Given the description of an element on the screen output the (x, y) to click on. 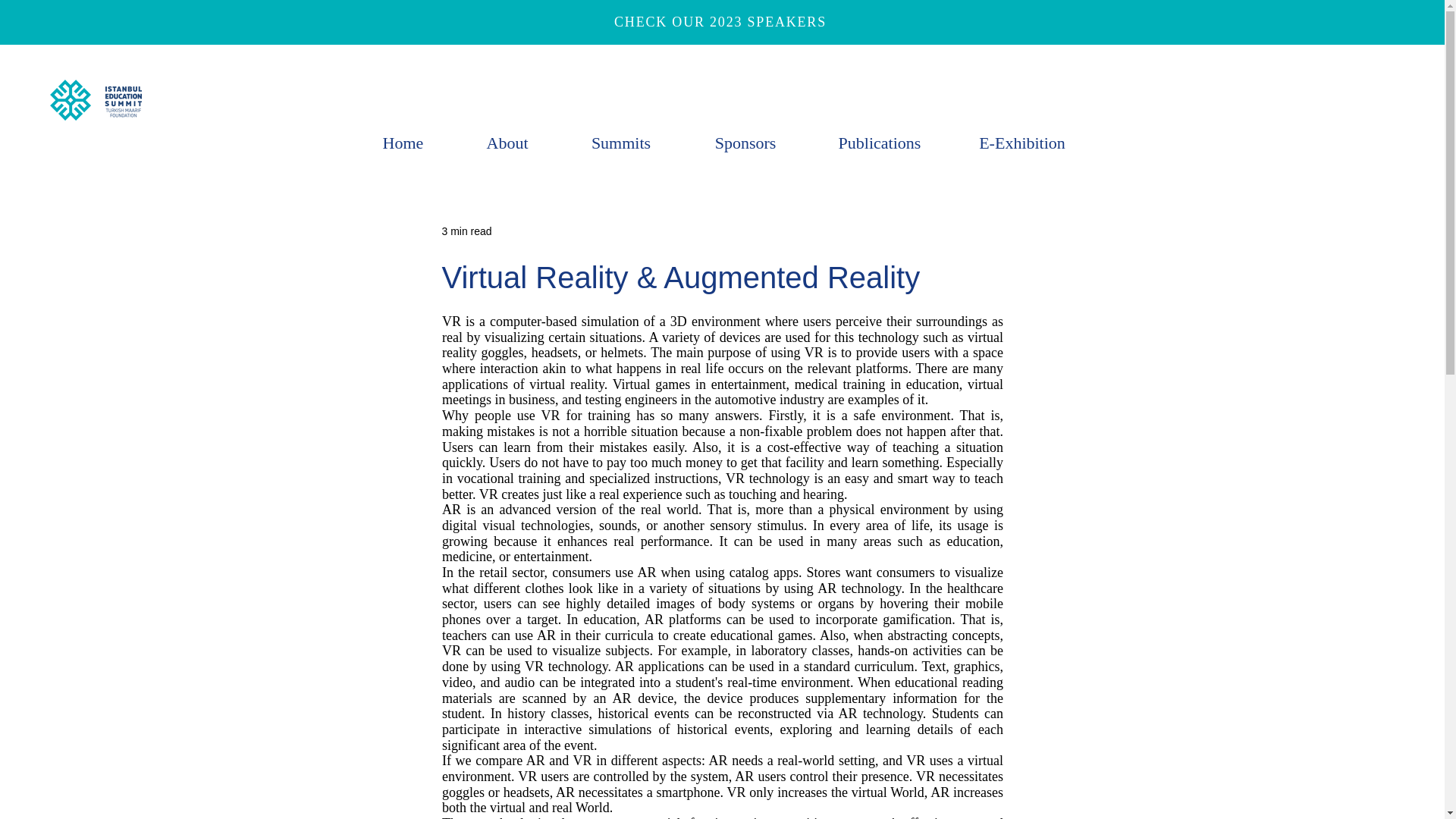
About (506, 142)
E-Exhibition (1021, 142)
CHECK OUR 2023 SPEAKERS (721, 21)
Publications (880, 142)
Home (402, 142)
istanbul education summit logo (95, 99)
3 min read (466, 230)
Sponsors (745, 142)
